Given the description of an element on the screen output the (x, y) to click on. 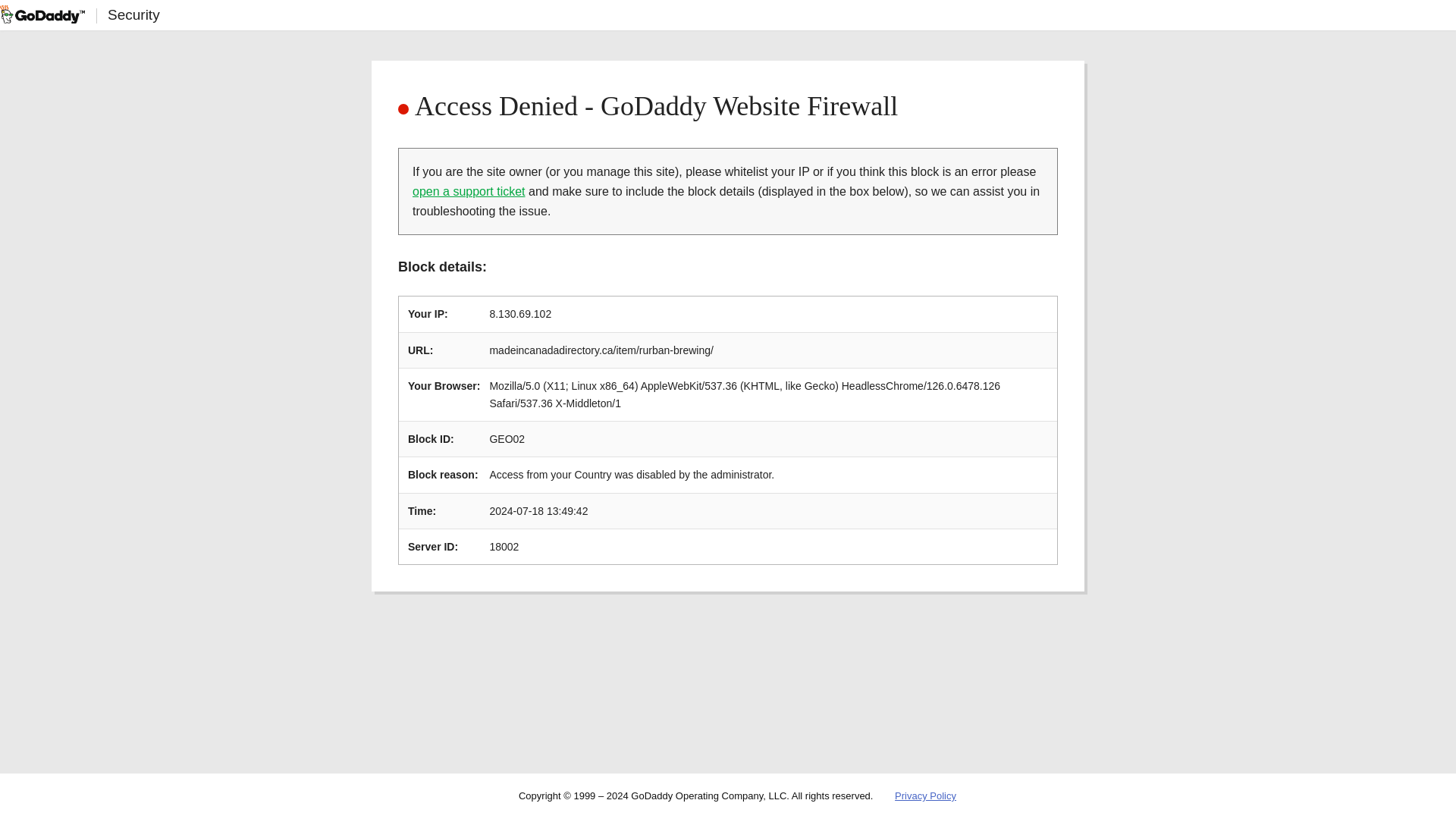
open a support ticket (468, 191)
Privacy Policy (925, 795)
